Given the description of an element on the screen output the (x, y) to click on. 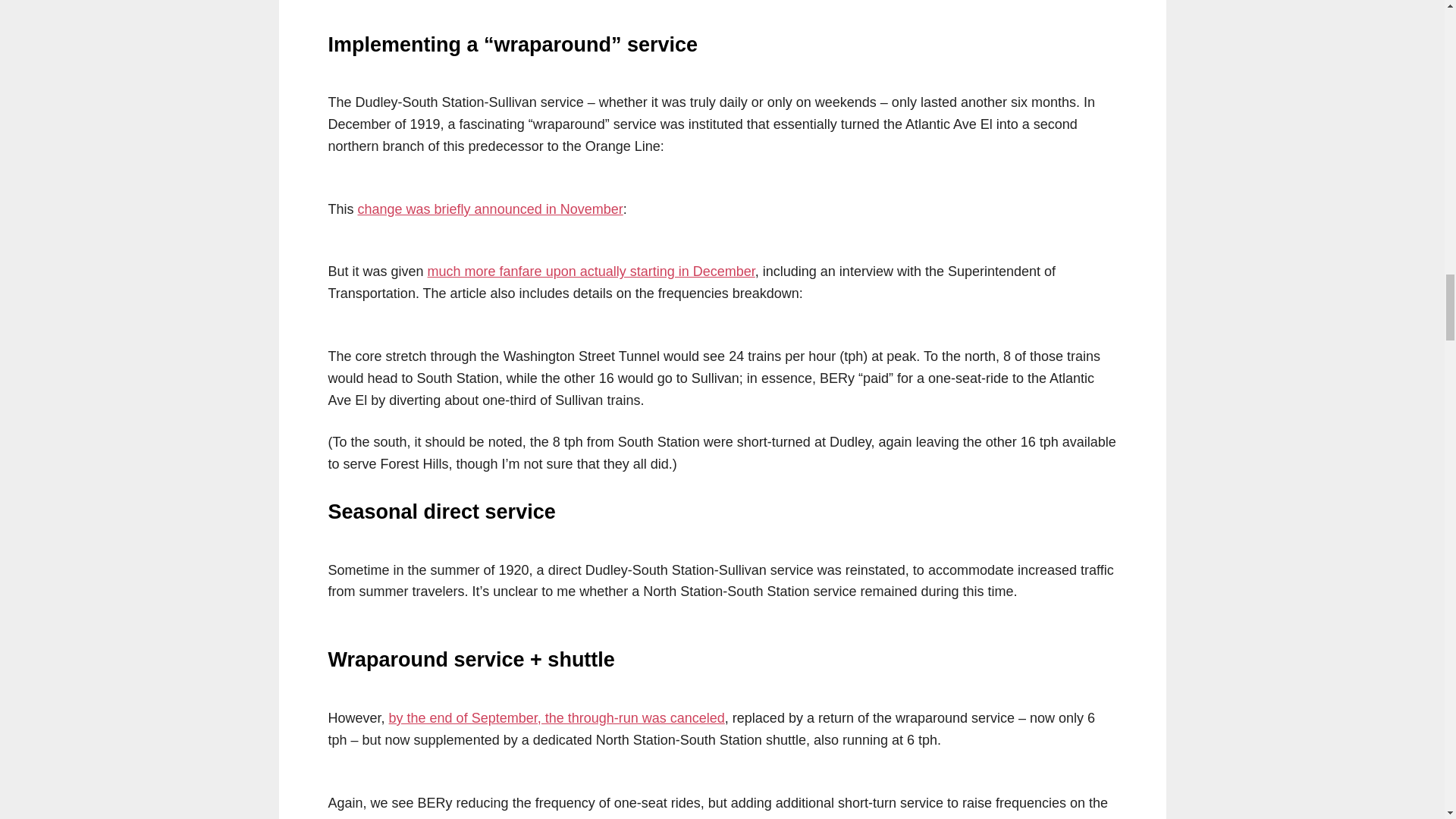
change was briefly announced in November (490, 209)
much more fanfare upon actually starting in December (591, 271)
by the end of September, the through-run was canceled (556, 717)
